Given the description of an element on the screen output the (x, y) to click on. 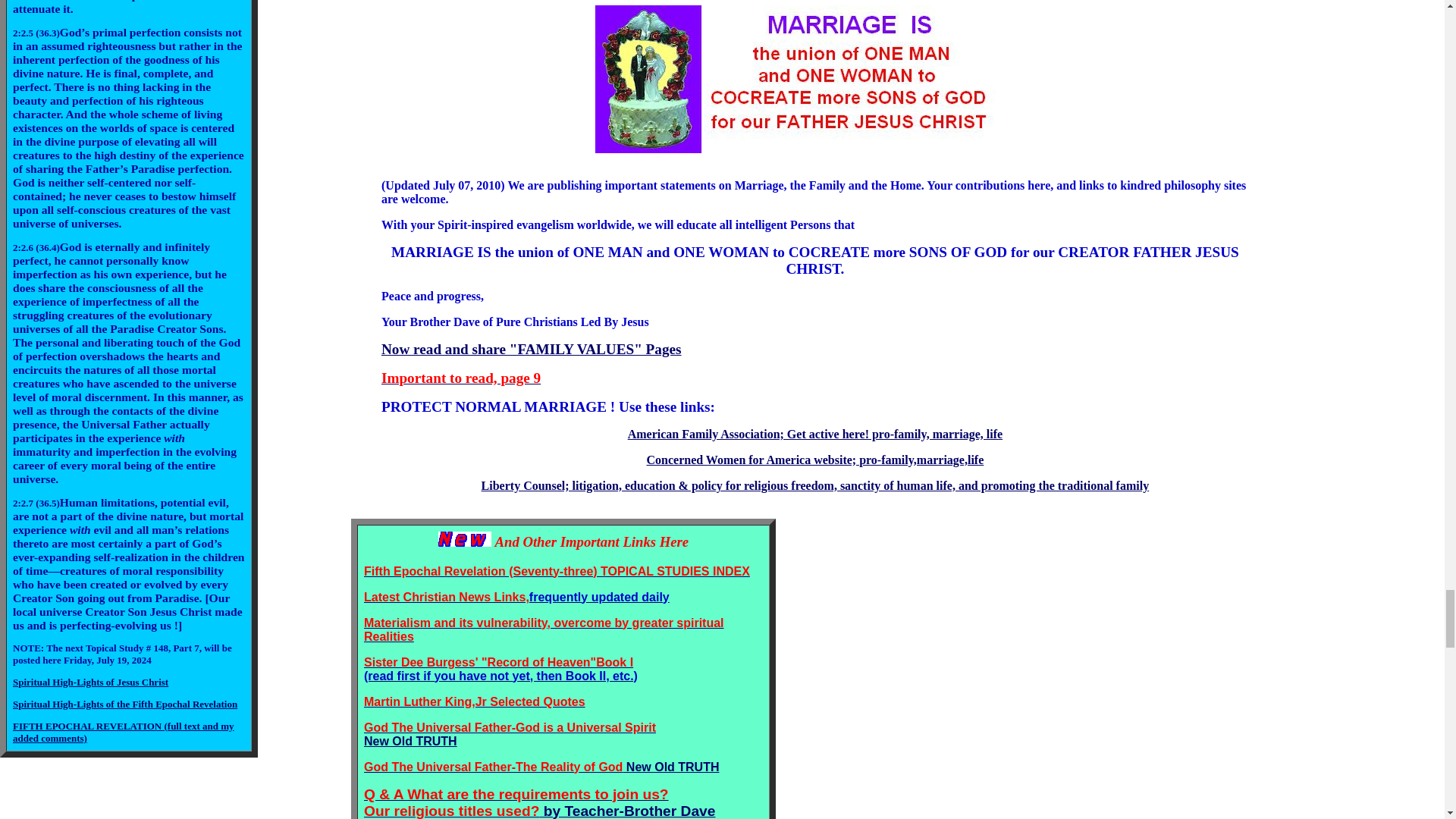
Spiritual High-Lights of the Fifth Epochal Revelation (125, 704)
Spiritual High-Lights of Jesus Christ (90, 681)
